Given the description of an element on the screen output the (x, y) to click on. 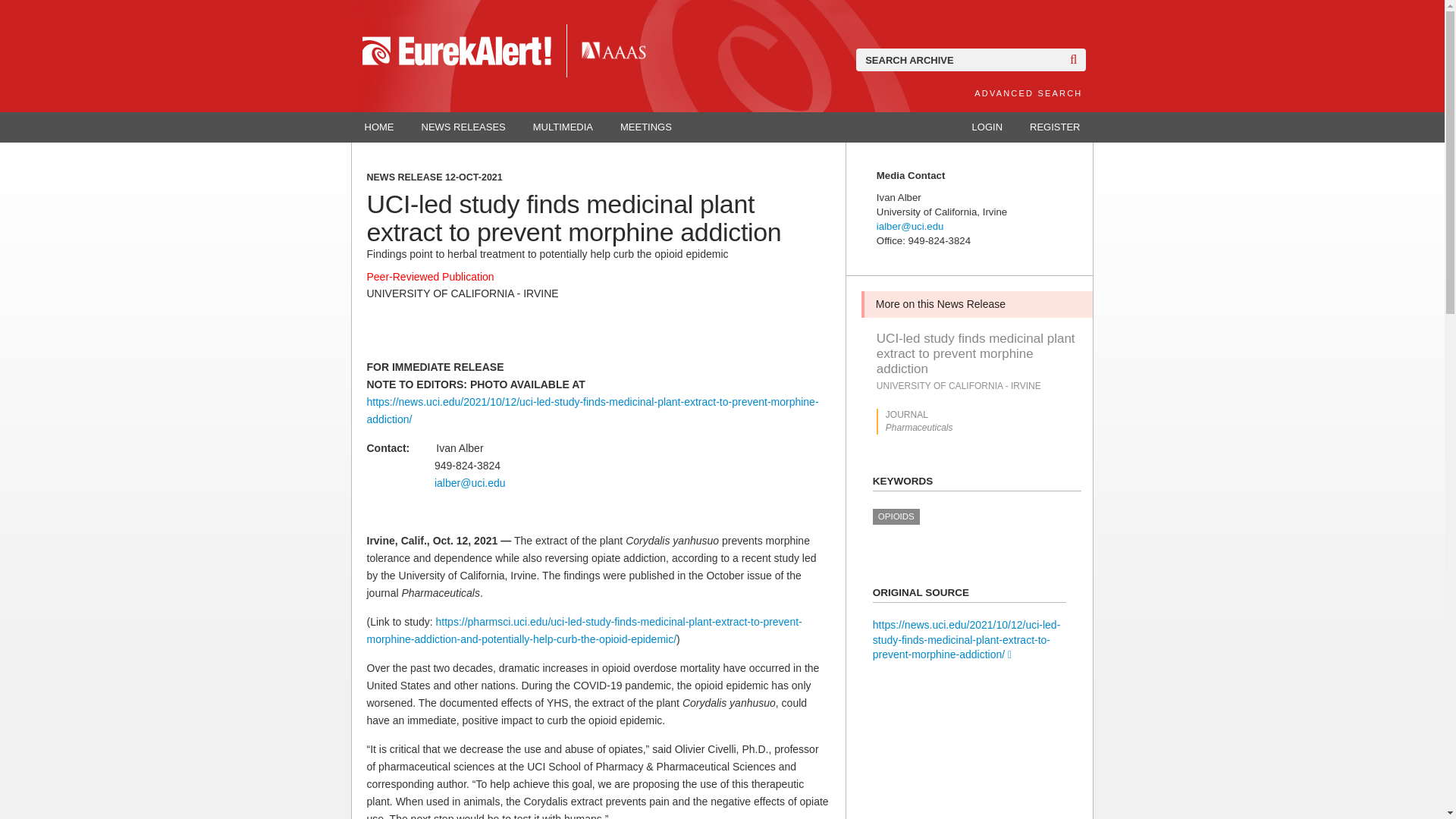
MEETINGS (646, 127)
MULTIMEDIA (563, 127)
ADVANCED SEARCH (1027, 92)
NEWS RELEASES (463, 127)
HOME (378, 127)
Peer-Reviewed Publication (430, 276)
LOGIN (987, 127)
OPIOIDS (896, 516)
REGISTER (1054, 127)
